Given the description of an element on the screen output the (x, y) to click on. 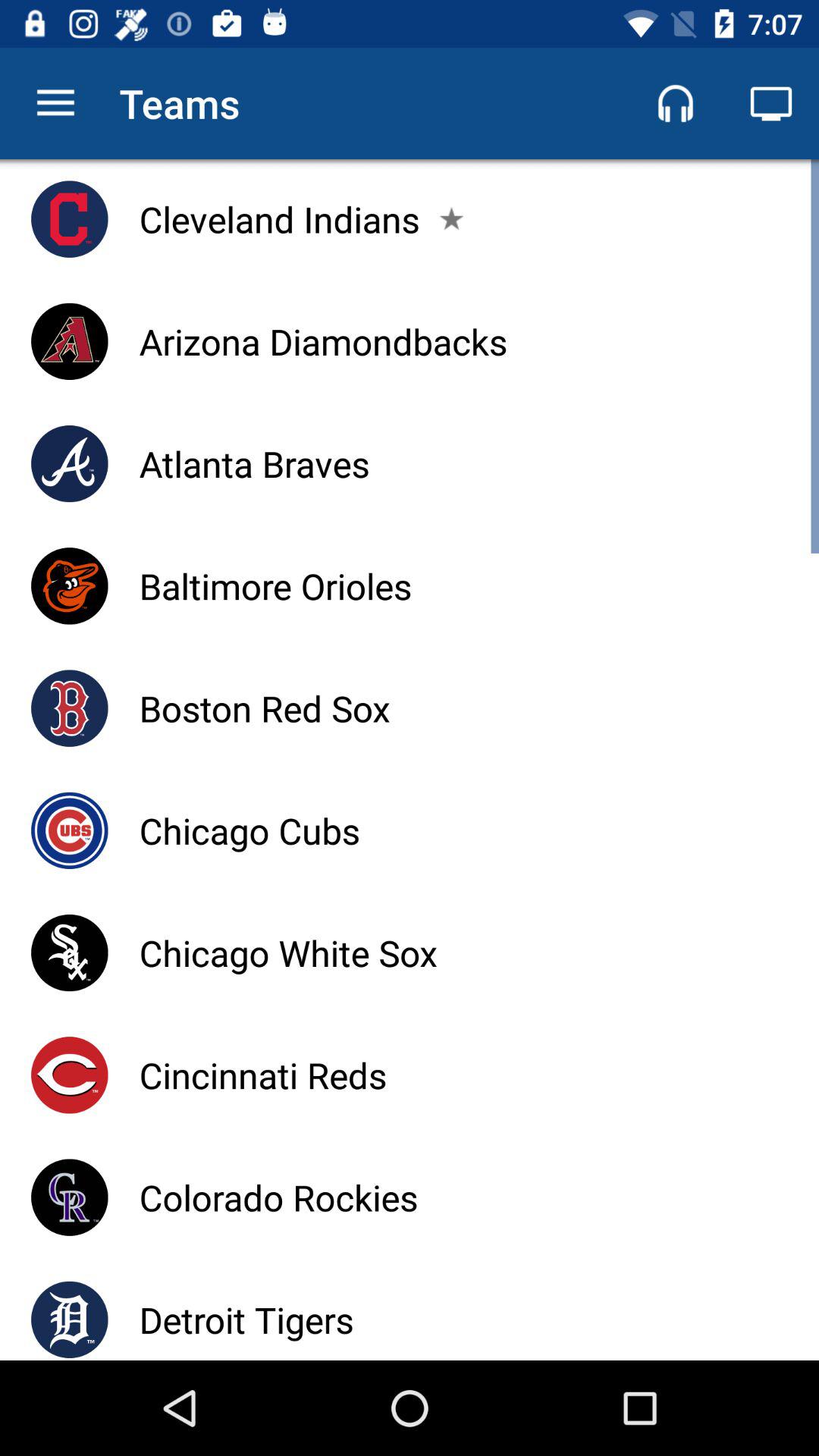
tap icon below baltimore orioles item (264, 708)
